Given the description of an element on the screen output the (x, y) to click on. 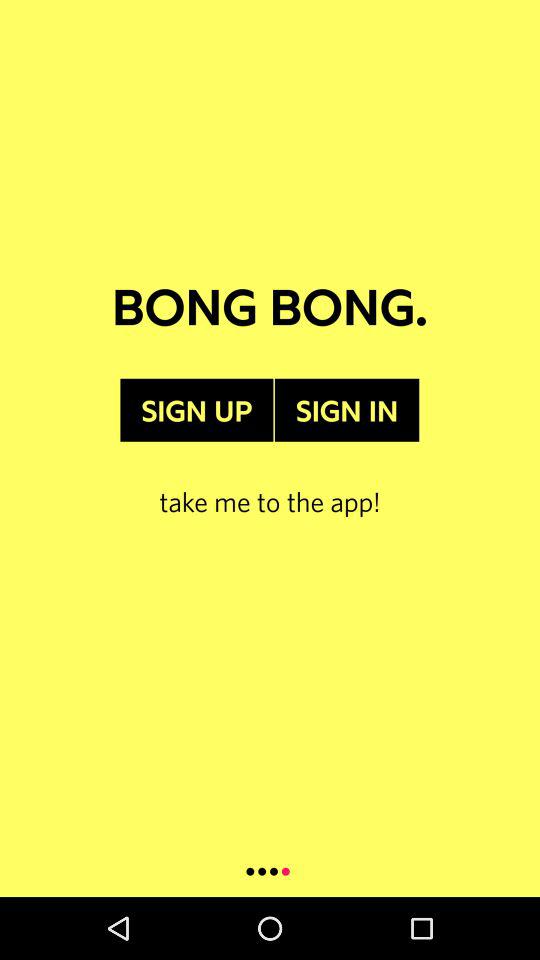
turn off item below the sign up (269, 480)
